Given the description of an element on the screen output the (x, y) to click on. 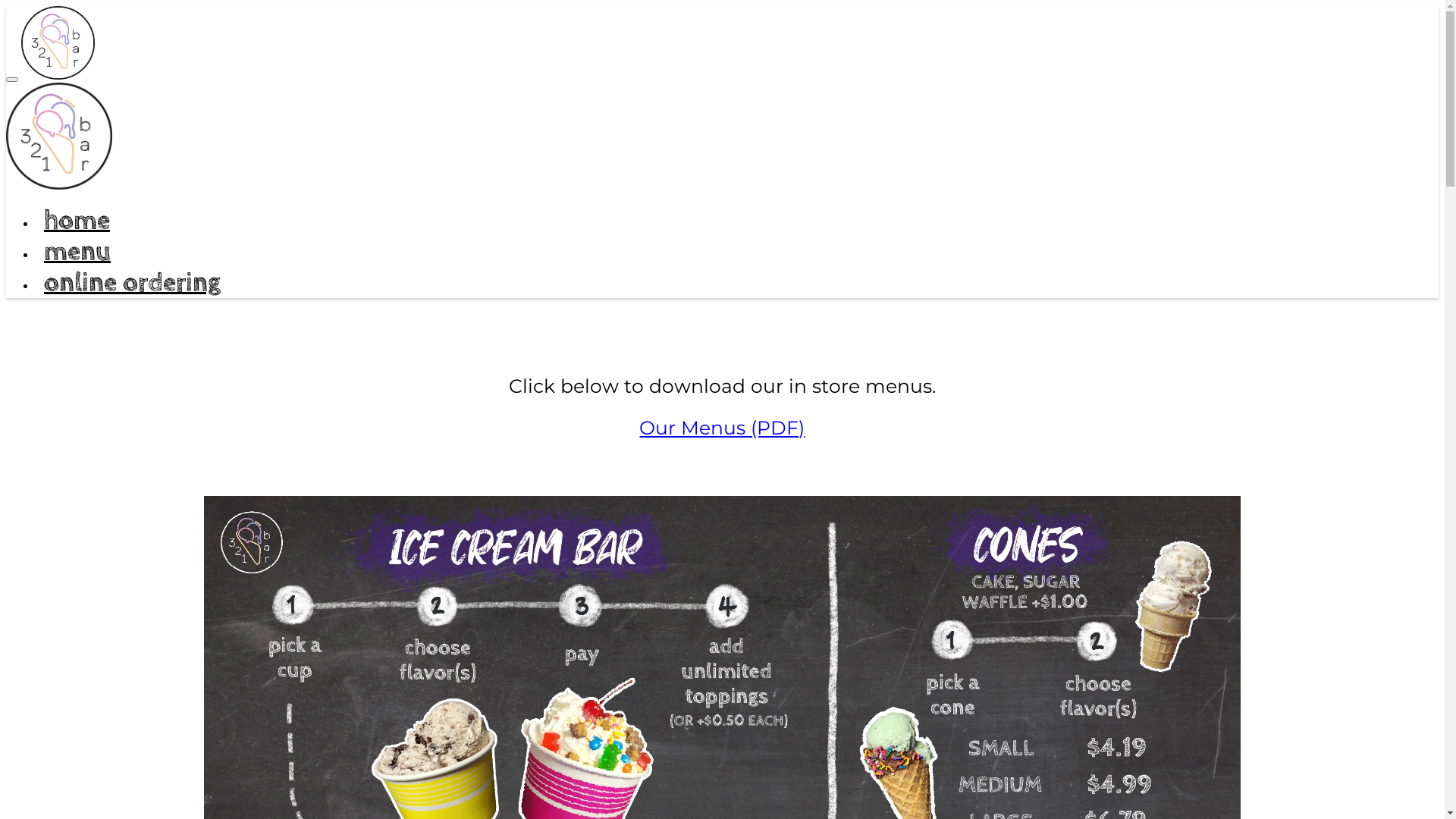
Our Menus (PDF) Element type: text (721, 427)
online ordering Element type: text (131, 282)
home Element type: text (76, 219)
menu Element type: text (76, 250)
